Given the description of an element on the screen output the (x, y) to click on. 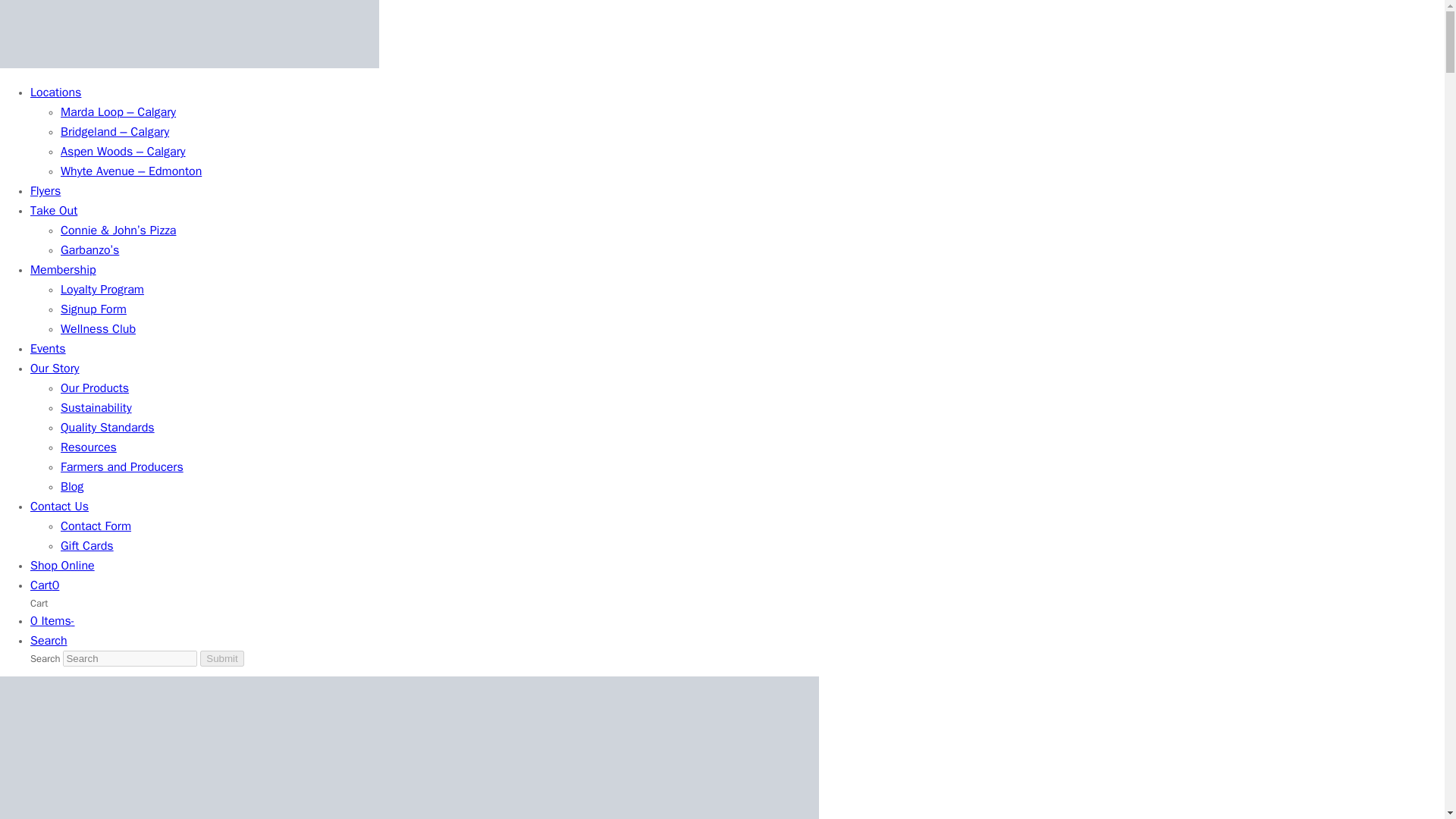
Gift Cards (87, 545)
Signup Form (93, 309)
Wellness Club (98, 328)
Locations (55, 92)
Quality Standards (107, 427)
0 Items- (52, 621)
Contact Form (96, 526)
Membership (63, 269)
Search (48, 640)
Resources (88, 447)
Submit (221, 658)
Our Story (55, 368)
Cart0 (44, 585)
Take Out (53, 210)
Farmers and Producers (122, 467)
